Given the description of an element on the screen output the (x, y) to click on. 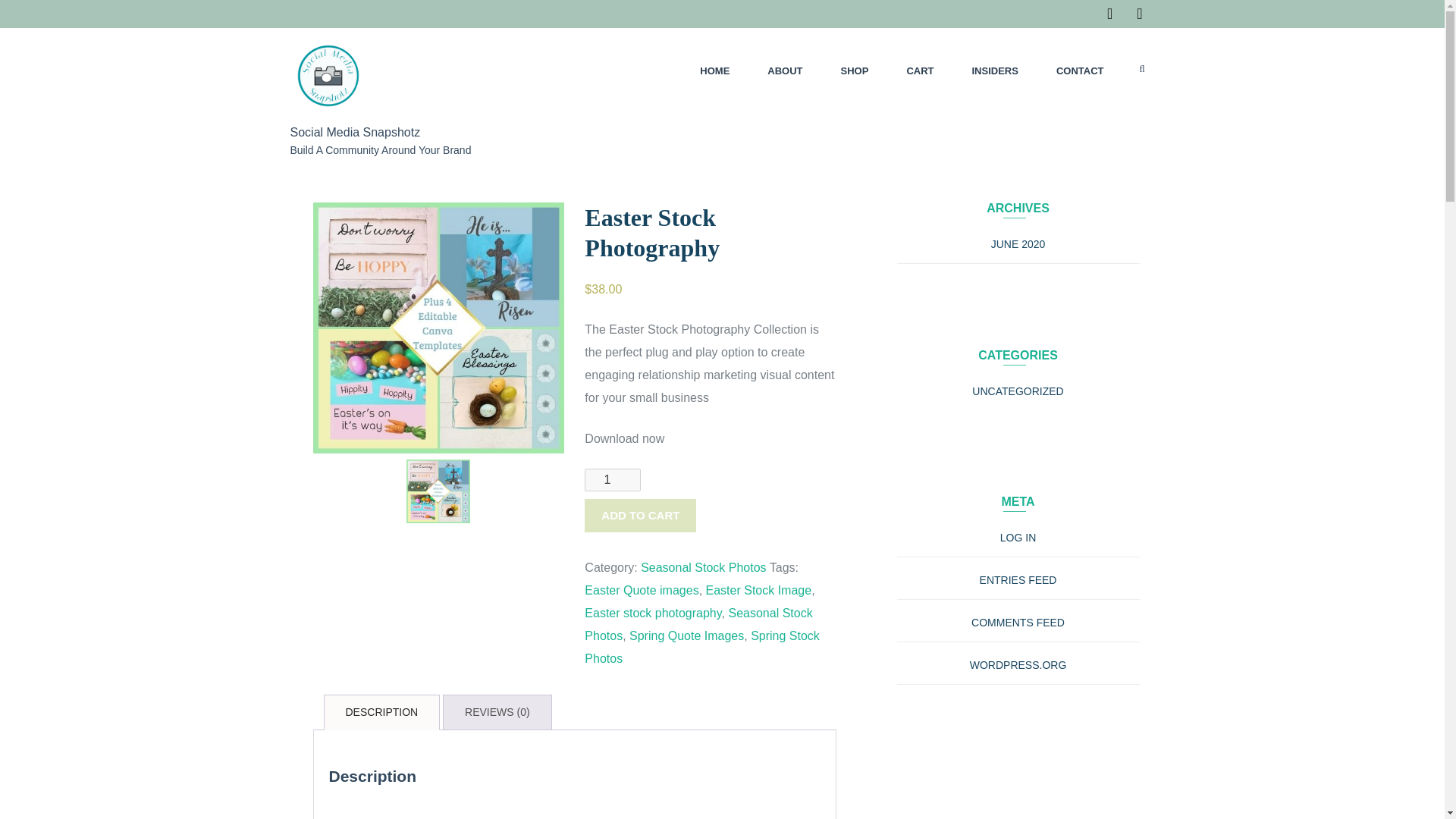
Easter Stock Image (759, 590)
Spring Quote Images (686, 635)
facebook (1109, 13)
ADD TO CART (640, 515)
Easter stock photography (652, 612)
Easter Quote Collage 500 (438, 491)
Easter Quote images (641, 590)
Spring Stock Photos (702, 647)
1 (612, 479)
Social Media Snapshotz (354, 132)
